Given the description of an element on the screen output the (x, y) to click on. 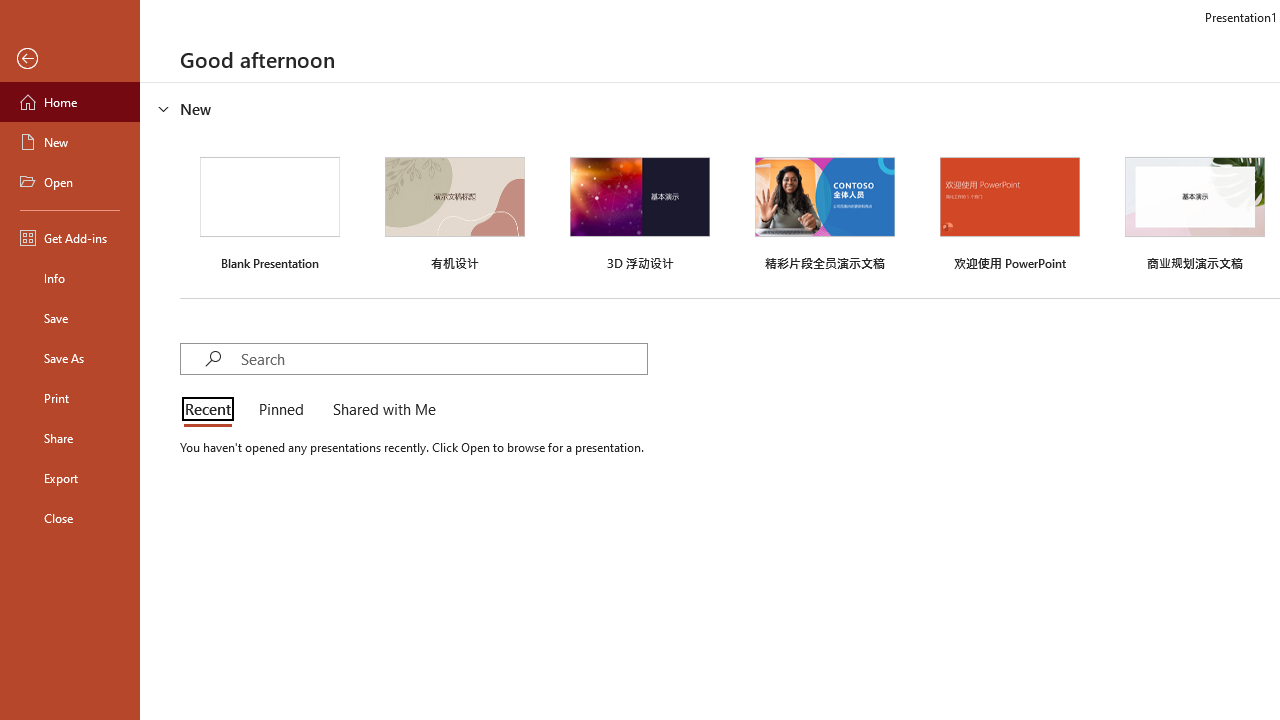
Pinned (280, 410)
Print (69, 398)
New (69, 141)
